Given the description of an element on the screen output the (x, y) to click on. 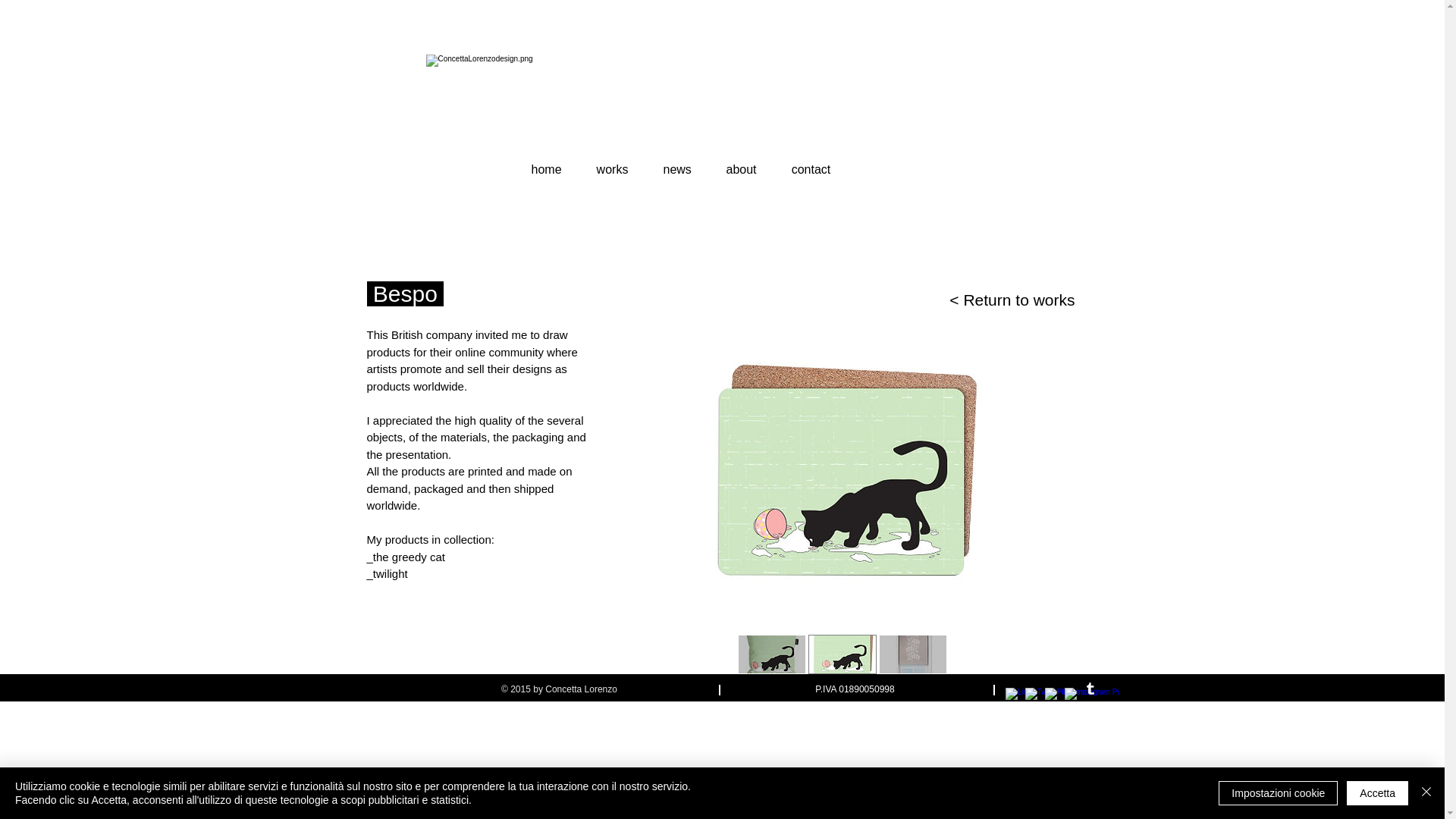
news (677, 162)
Accetta (1376, 793)
contact (810, 162)
Impostazioni cookie (1278, 793)
works (612, 162)
home (546, 162)
about (740, 162)
